Given the description of an element on the screen output the (x, y) to click on. 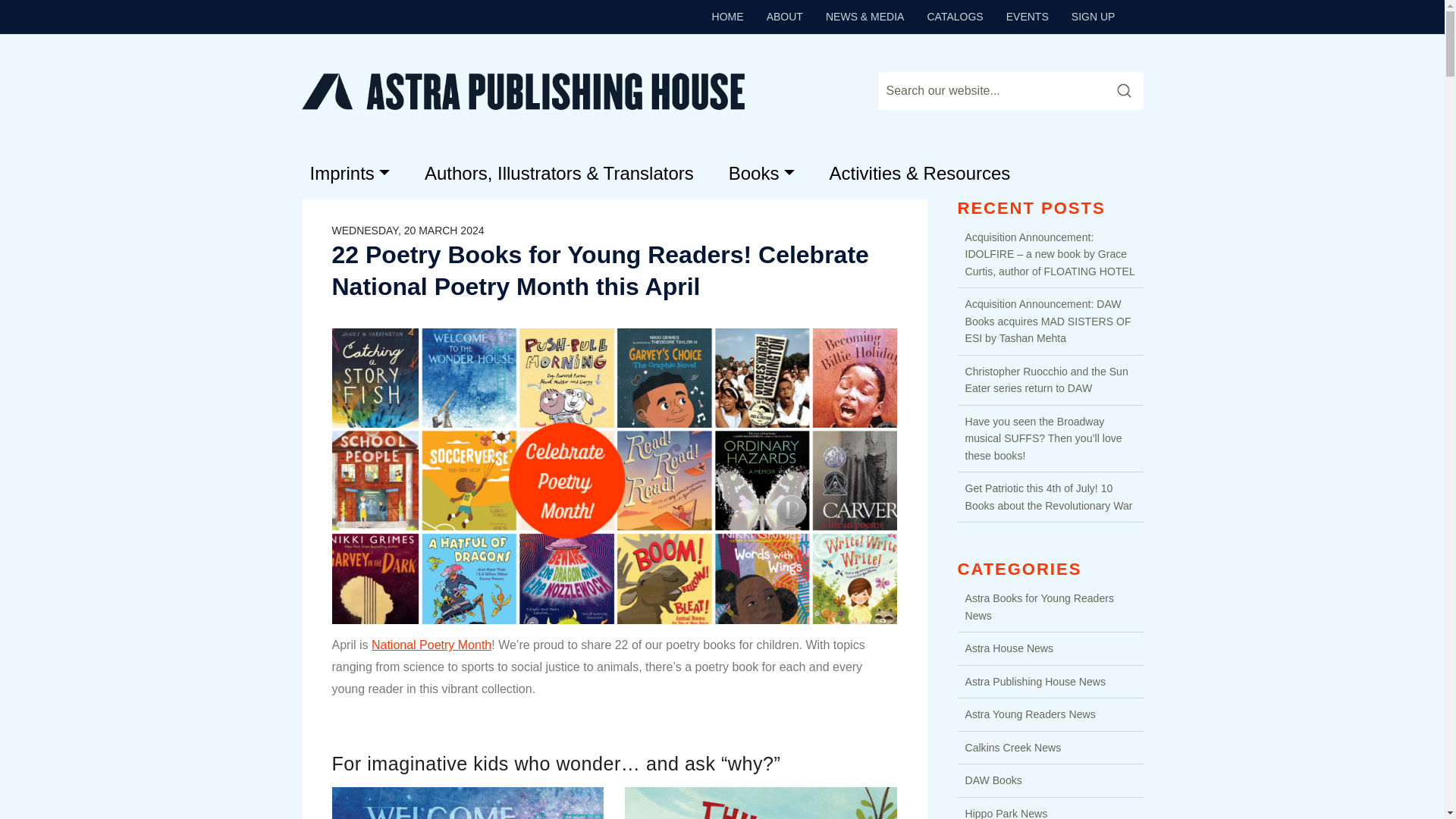
HOME (727, 15)
Search our website... (989, 90)
ABOUT (784, 15)
EVENTS (1027, 15)
Imprints (349, 172)
Thunder Underground (760, 803)
Books (761, 172)
CATALOGS (954, 15)
National Poetry Month (431, 644)
SIGN UP (1093, 15)
Welcome to the Wonder House (467, 803)
